Given the description of an element on the screen output the (x, y) to click on. 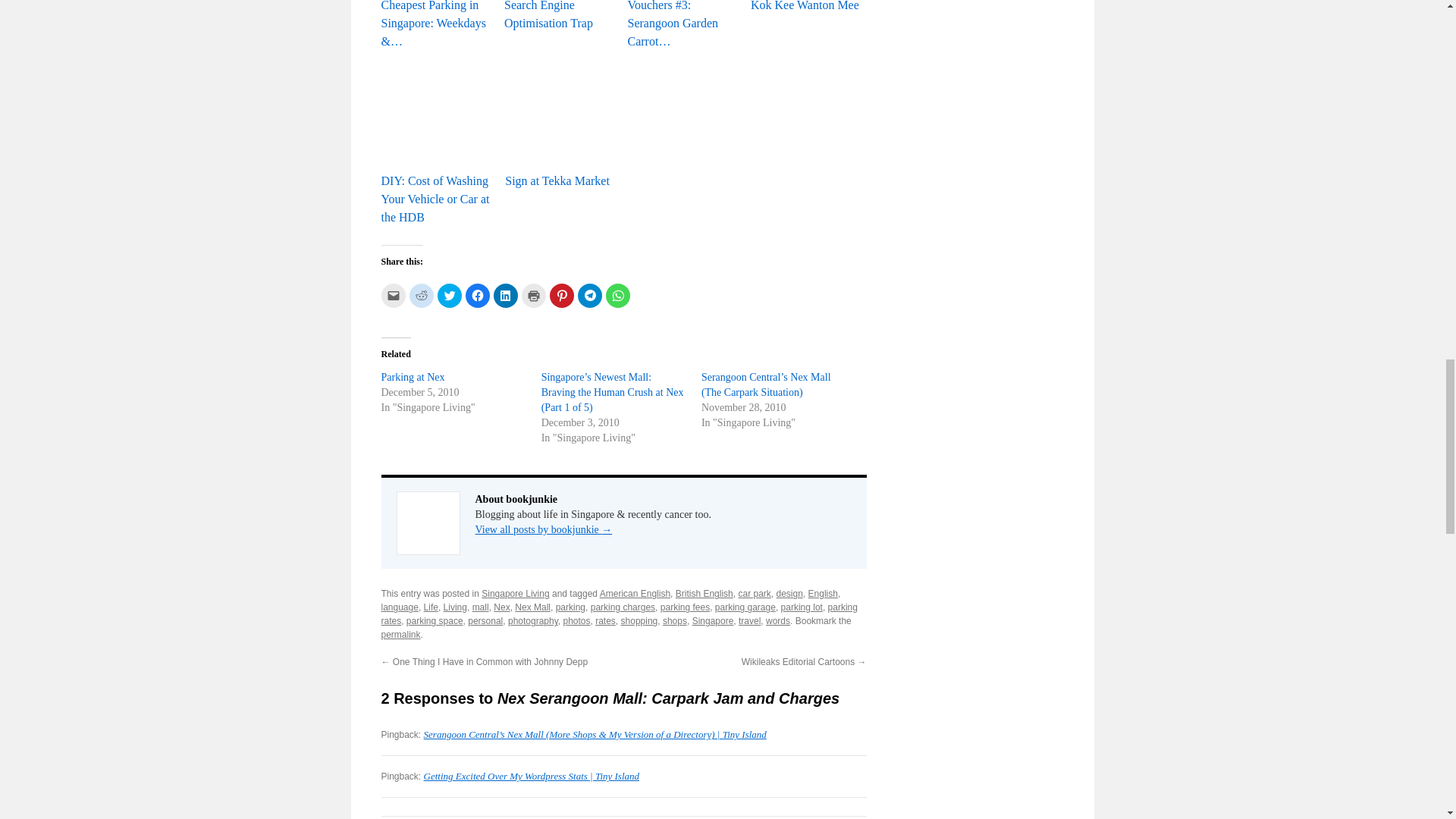
Click to email a link to a friend (392, 295)
Blogging and The Search Engine Optimisation Trap (561, 16)
Parking at Nex (412, 377)
Click to share on Twitter (448, 295)
Singapore Living (514, 593)
DIY: Cost of Washing Your Vehicle or Car at the HDB (438, 142)
DIY: Cost of Washing Your Vehicle or Car at the HDB (438, 114)
Favourite Noodles: Kok Kee Wanton Mee (808, 7)
car park (754, 593)
Sign at Tekka Market (561, 114)
Click to share on Reddit (421, 295)
Click to share on Facebook (477, 295)
American English (634, 593)
design (789, 593)
Sign at Tekka Market (561, 124)
